Given the description of an element on the screen output the (x, y) to click on. 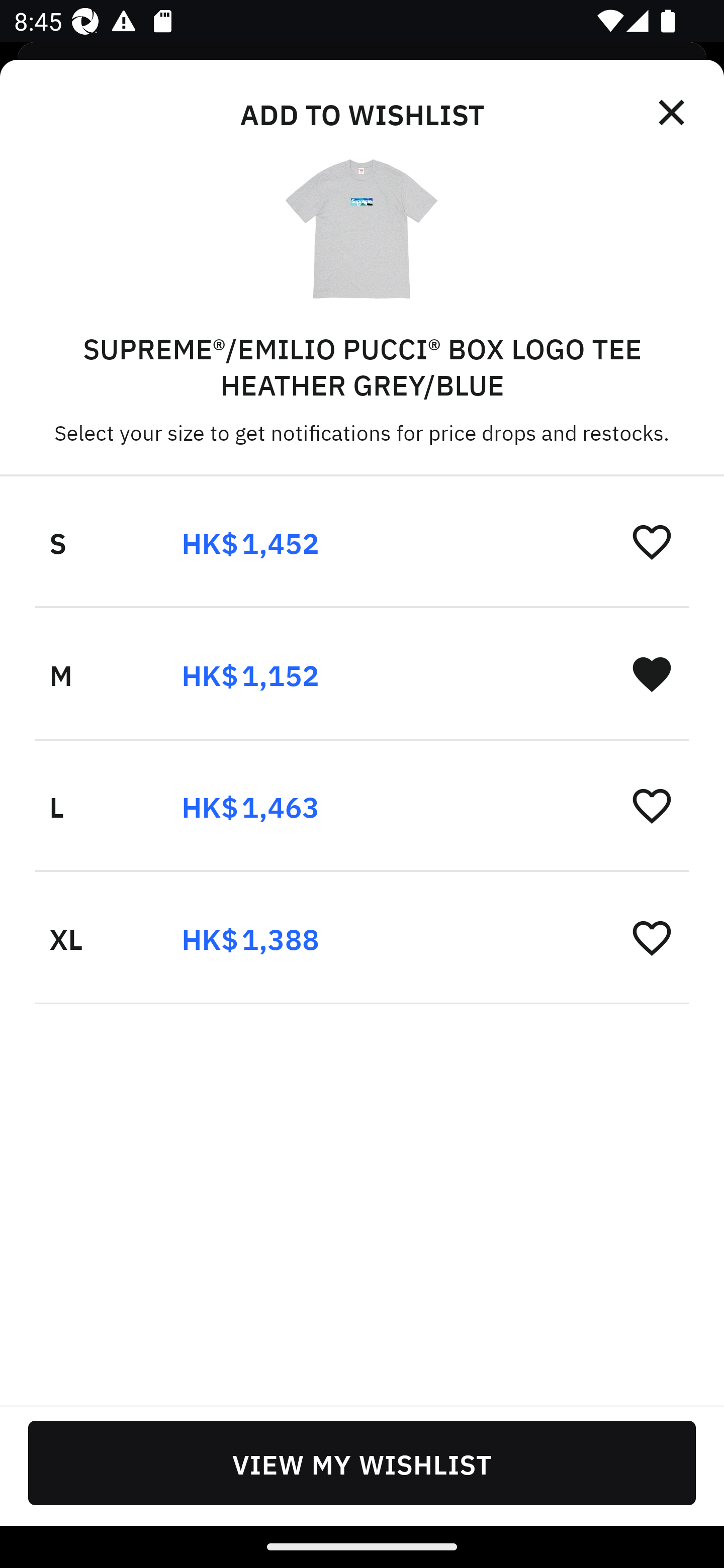
 (672, 112)
󰋕 (651, 541)
󰋑 (651, 673)
󰋕 (651, 804)
󰋕 (651, 936)
VIEW MY WISHLIST (361, 1462)
